Given the description of an element on the screen output the (x, y) to click on. 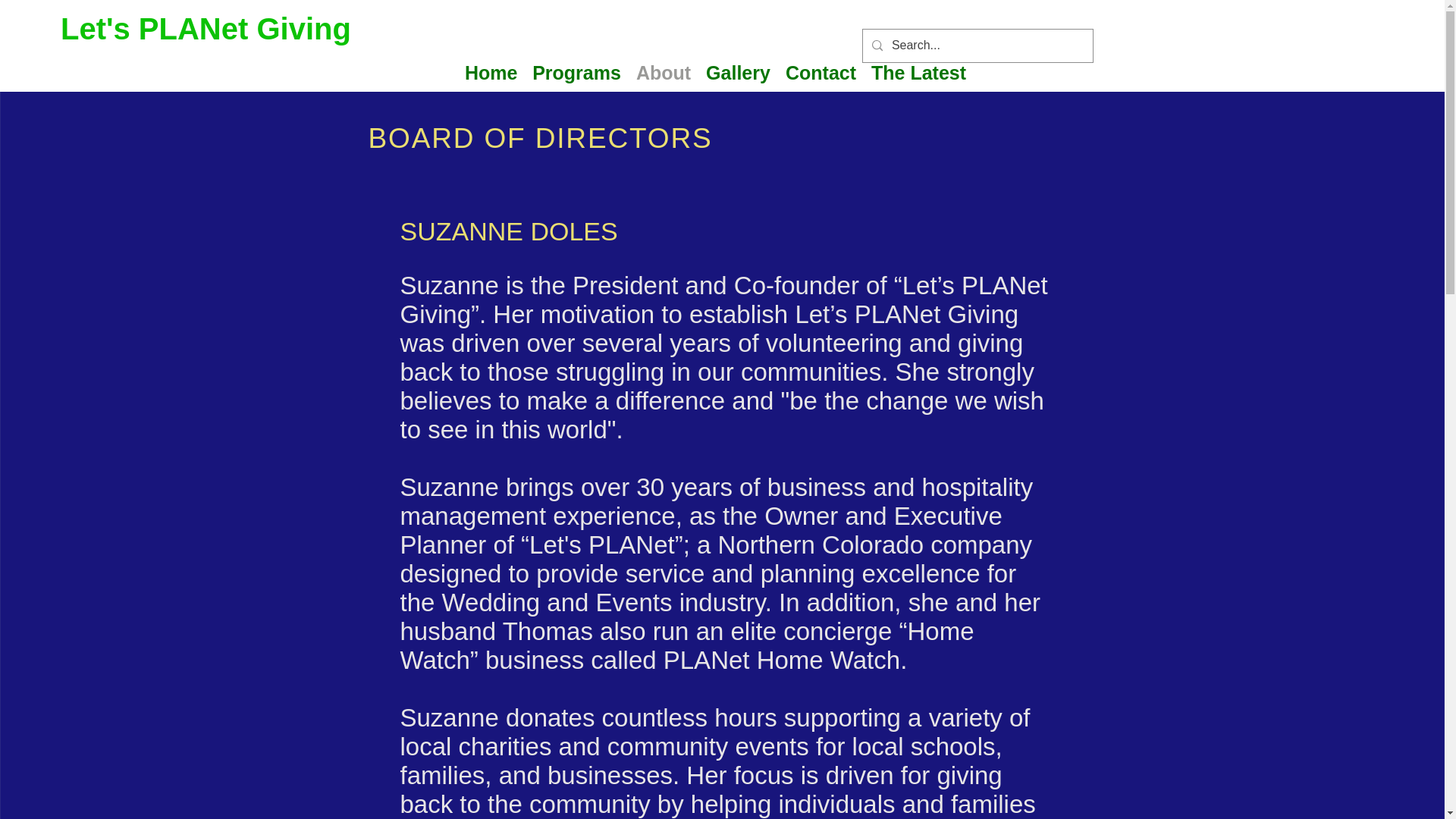
Contact (820, 72)
About (663, 72)
The Latest (918, 72)
Gallery (737, 72)
Home (490, 72)
Let's PLANet Giving (205, 28)
Programs (576, 72)
